Given the description of an element on the screen output the (x, y) to click on. 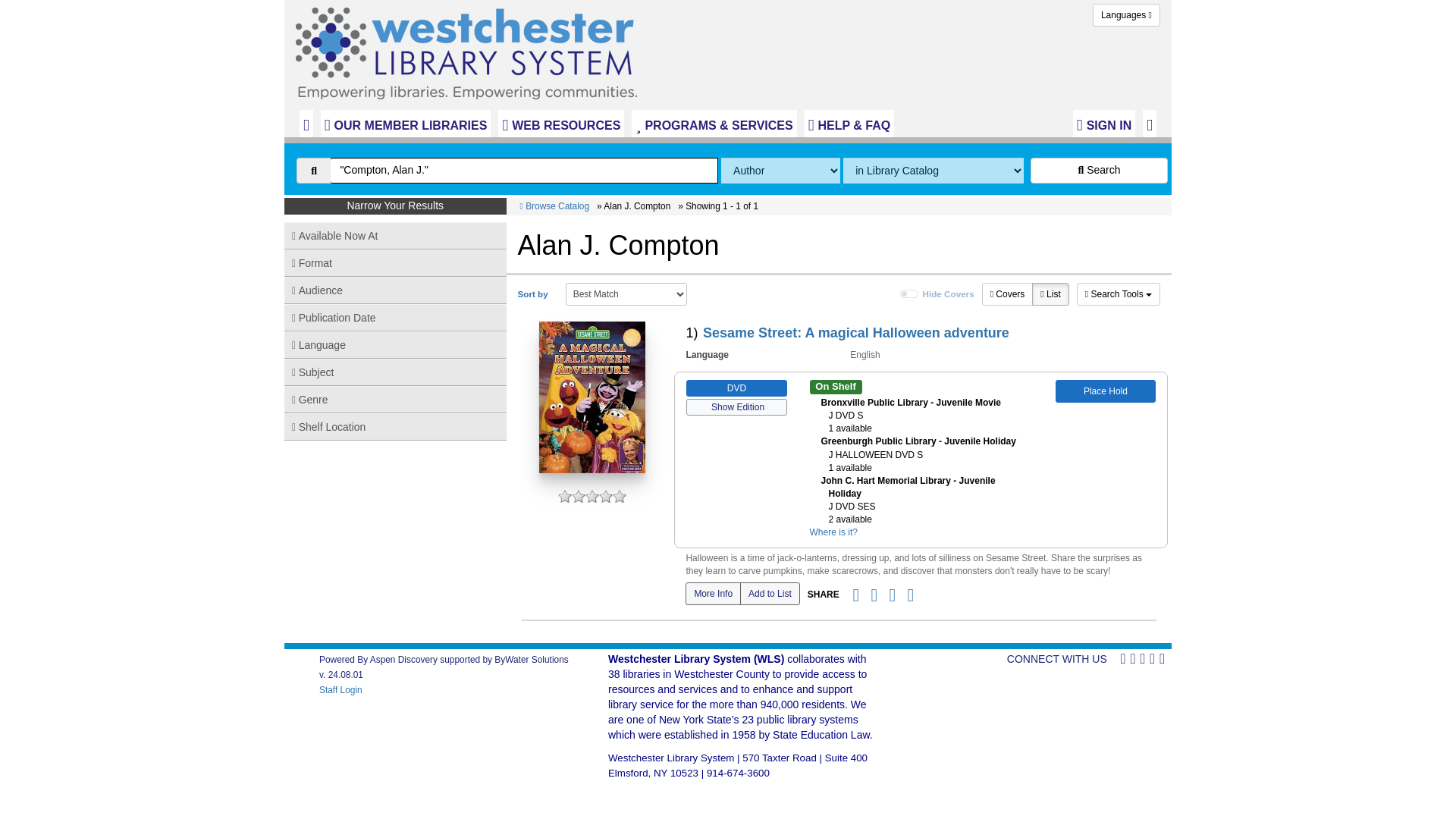
Languages  (1126, 15)
SIGN IN (1104, 123)
Login (1104, 123)
Library Home Page (470, 49)
 Search (1098, 170)
OUR MEMBER LIBRARIES (406, 123)
WEB RESOURCES (560, 123)
"Compton, Alan J." (523, 170)
on (908, 293)
